Given the description of an element on the screen output the (x, y) to click on. 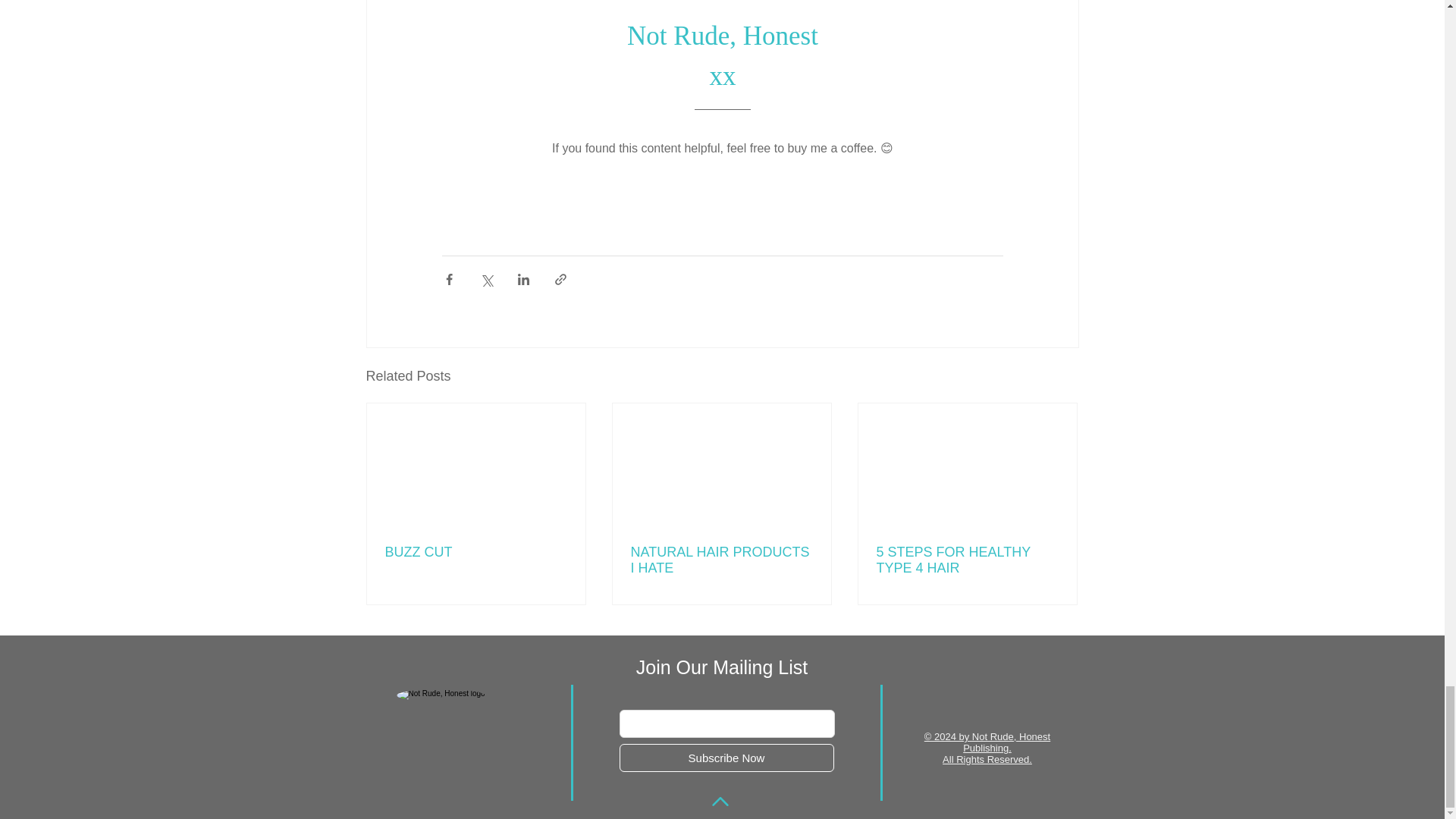
NATURAL HAIR PRODUCTS I HATE (721, 560)
BUZZ CUT (476, 552)
Subscribe Now (725, 757)
5 STEPS FOR HEALTHY TYPE 4 HAIR (967, 560)
